Given the description of an element on the screen output the (x, y) to click on. 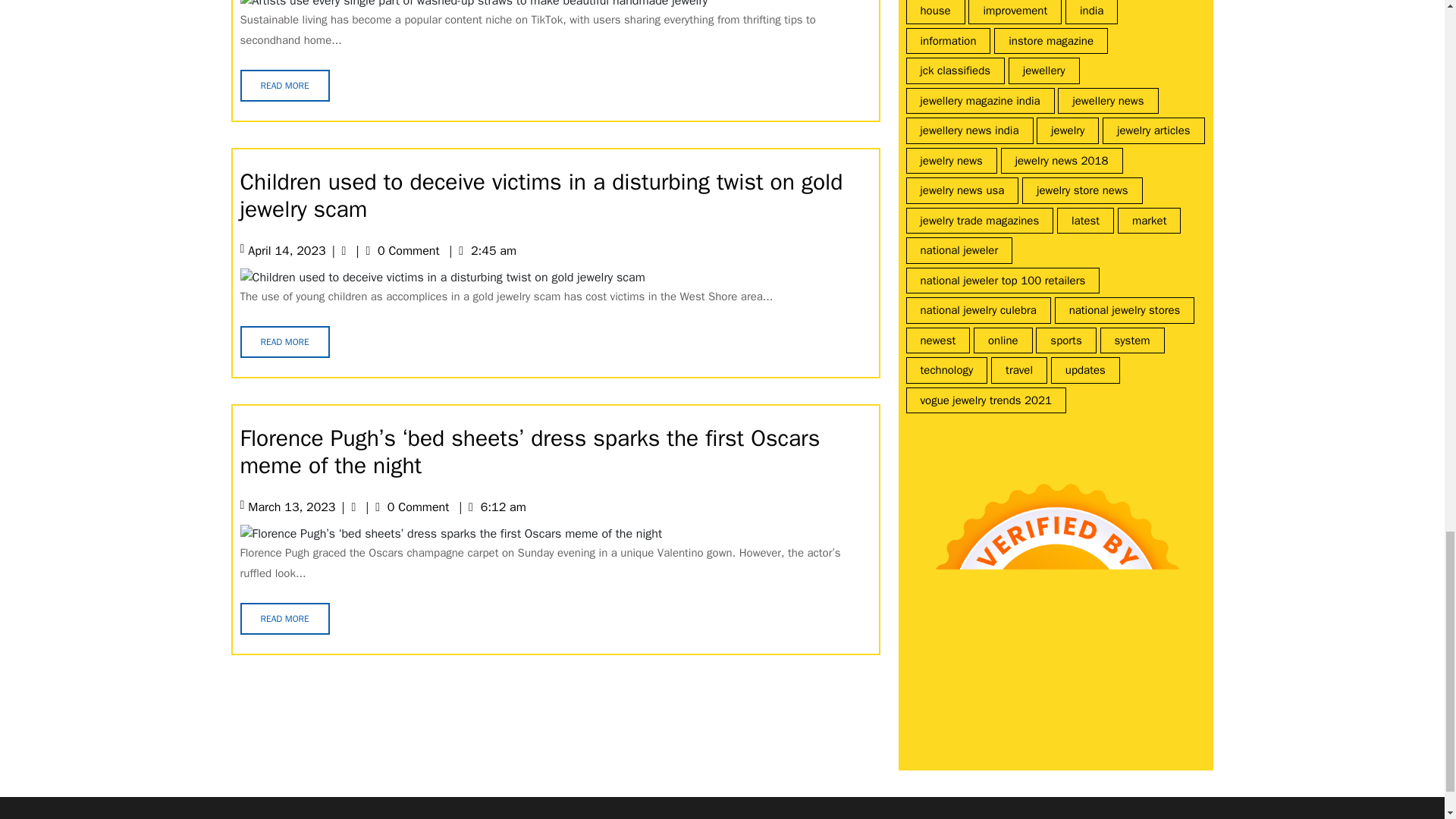
Read More (284, 85)
READ MORE (284, 85)
April 14, 2023 (285, 250)
March 13, 2023 (290, 507)
READ MORE (284, 618)
READ MORE (284, 341)
